Given the description of an element on the screen output the (x, y) to click on. 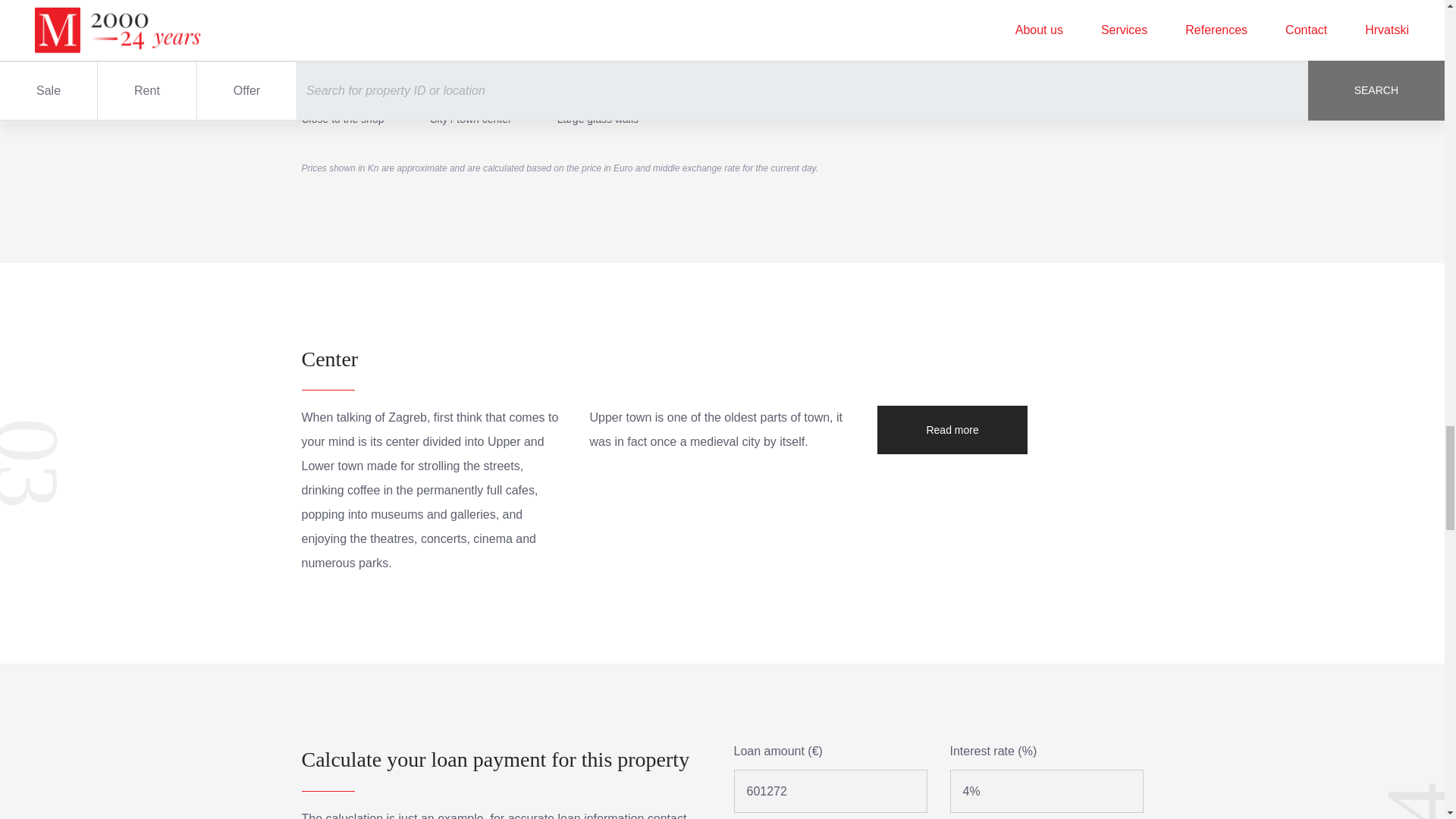
601272 (830, 791)
Read more (951, 429)
